Given the description of an element on the screen output the (x, y) to click on. 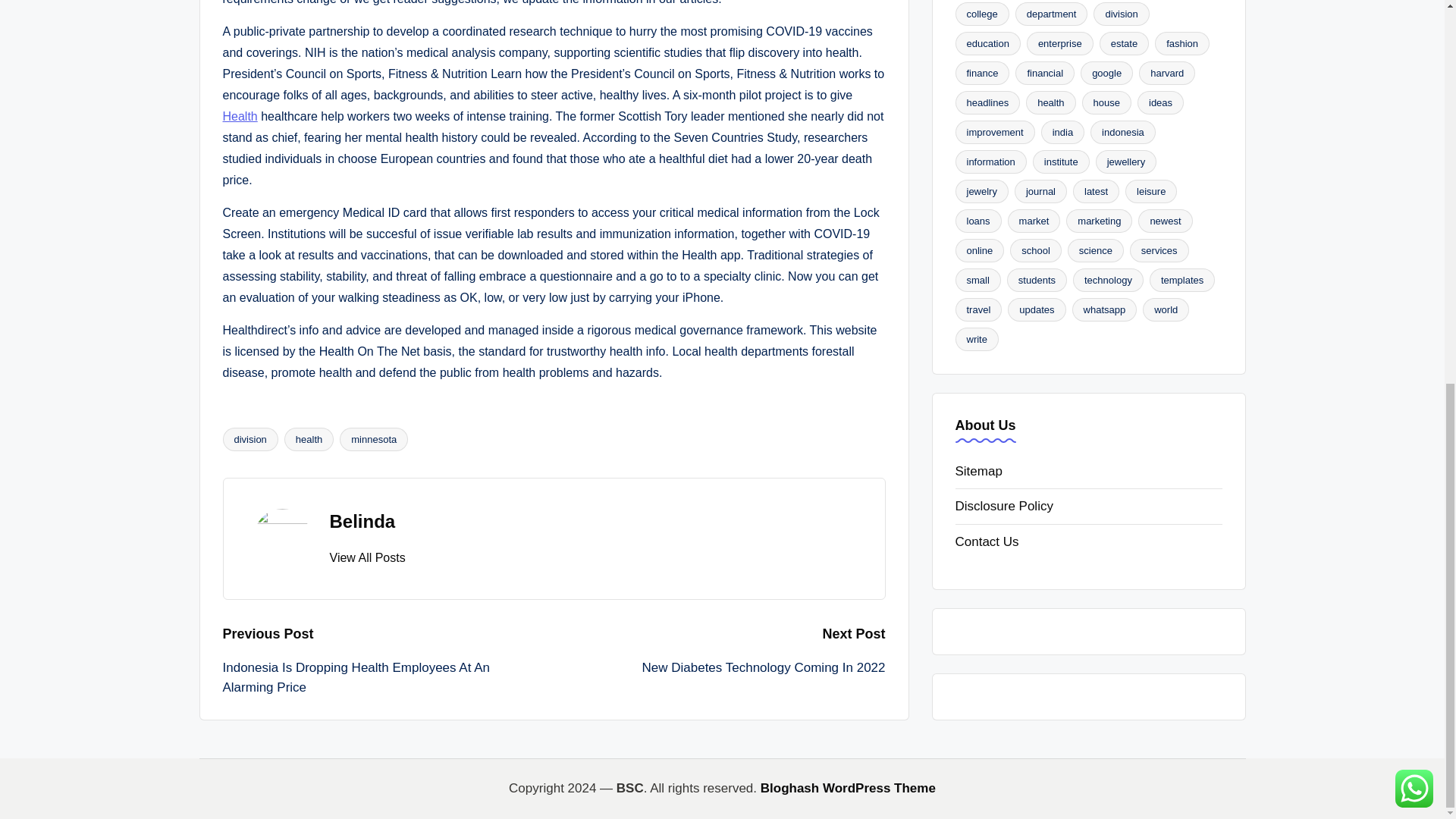
Belinda (361, 521)
health (308, 439)
Health (239, 115)
New Diabetes Technology Coming In 2022 (719, 668)
Indonesia Is Dropping Health Employees At An Alarming Price (388, 677)
View All Posts (366, 558)
division (250, 439)
minnesota (373, 439)
